Given the description of an element on the screen output the (x, y) to click on. 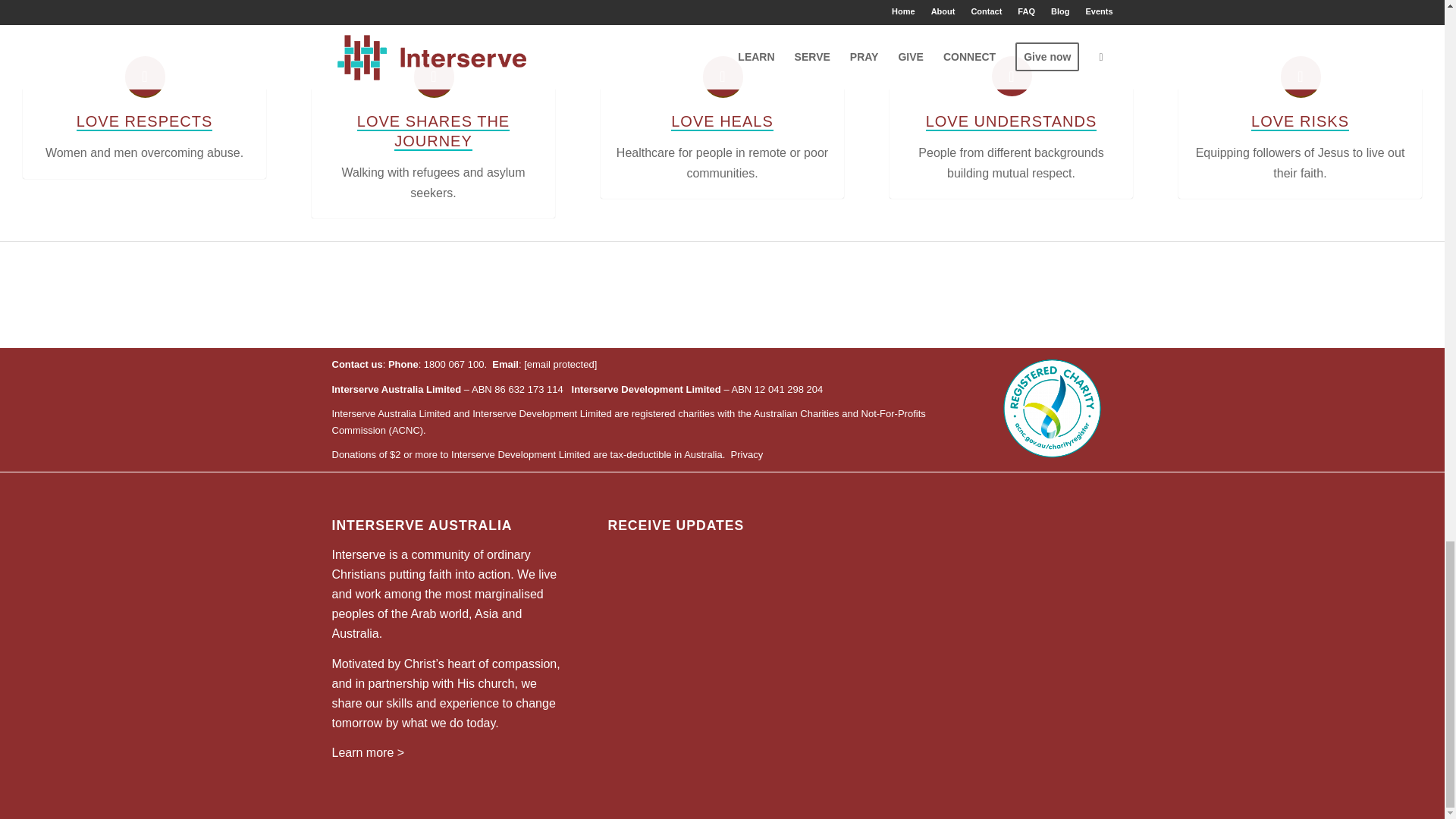
Love Respects (144, 122)
Love Respects (143, 76)
Love Shares the Journey  (433, 76)
Love Heals (721, 76)
Love Shares the Journey  (432, 131)
